Given the description of an element on the screen output the (x, y) to click on. 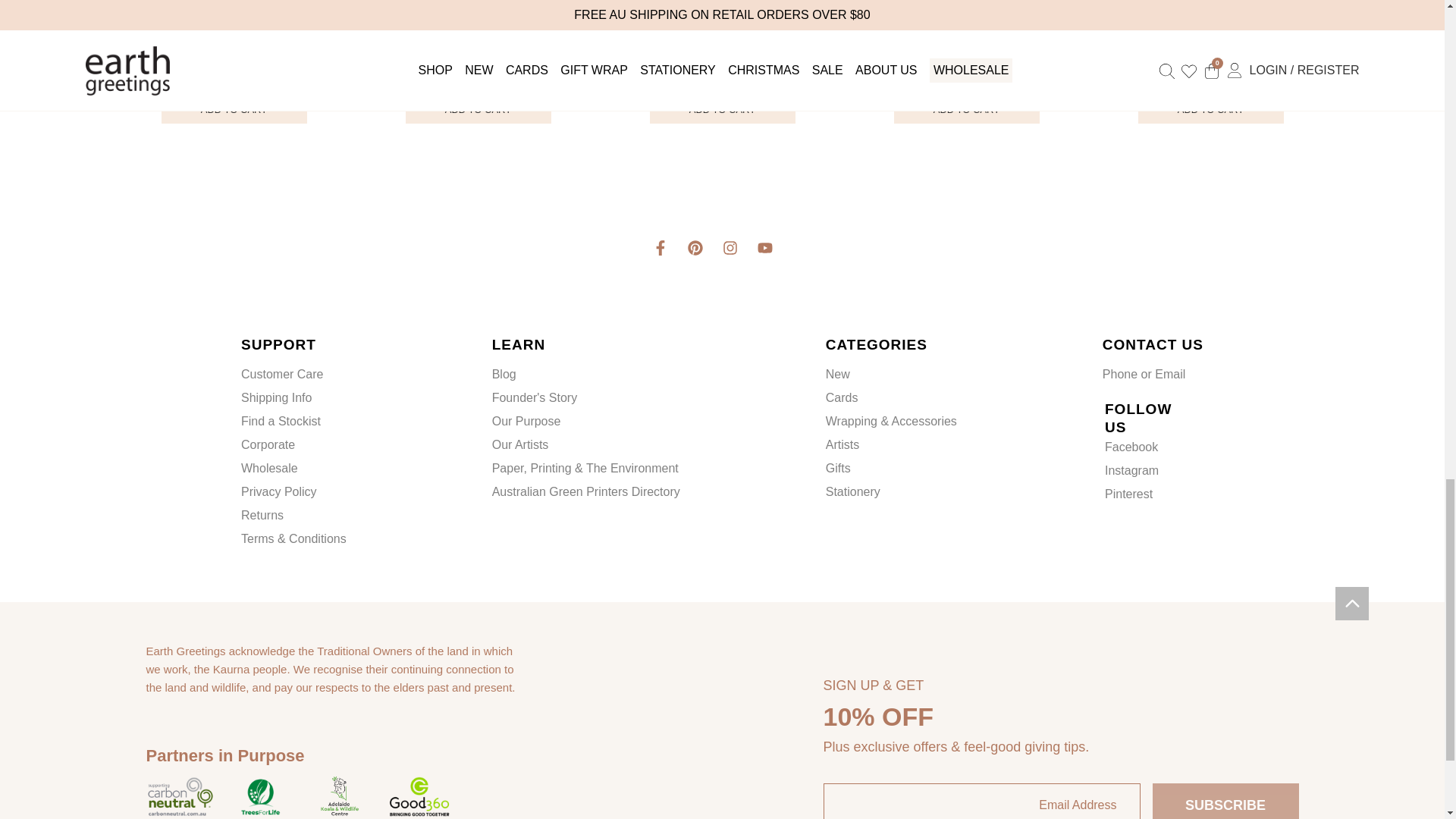
Add Colouring Cards Pack - First Nations Art to Cart (477, 109)
Add Upcycled Newspaper Pencil to Cart (721, 109)
Add Notebook Bundle - Our Mother The Sun to Cart (966, 109)
4.88 Stars - 16 Reviews (1209, 47)
5 Stars - 4 Reviews (477, 47)
5 Stars - 6 Reviews (721, 47)
Add Organic Cotton Bundle - Aussie Squawkers to Cart (1209, 109)
Add Notebook Bundle - Gumnut Dance to Cart (232, 109)
